Given the description of an element on the screen output the (x, y) to click on. 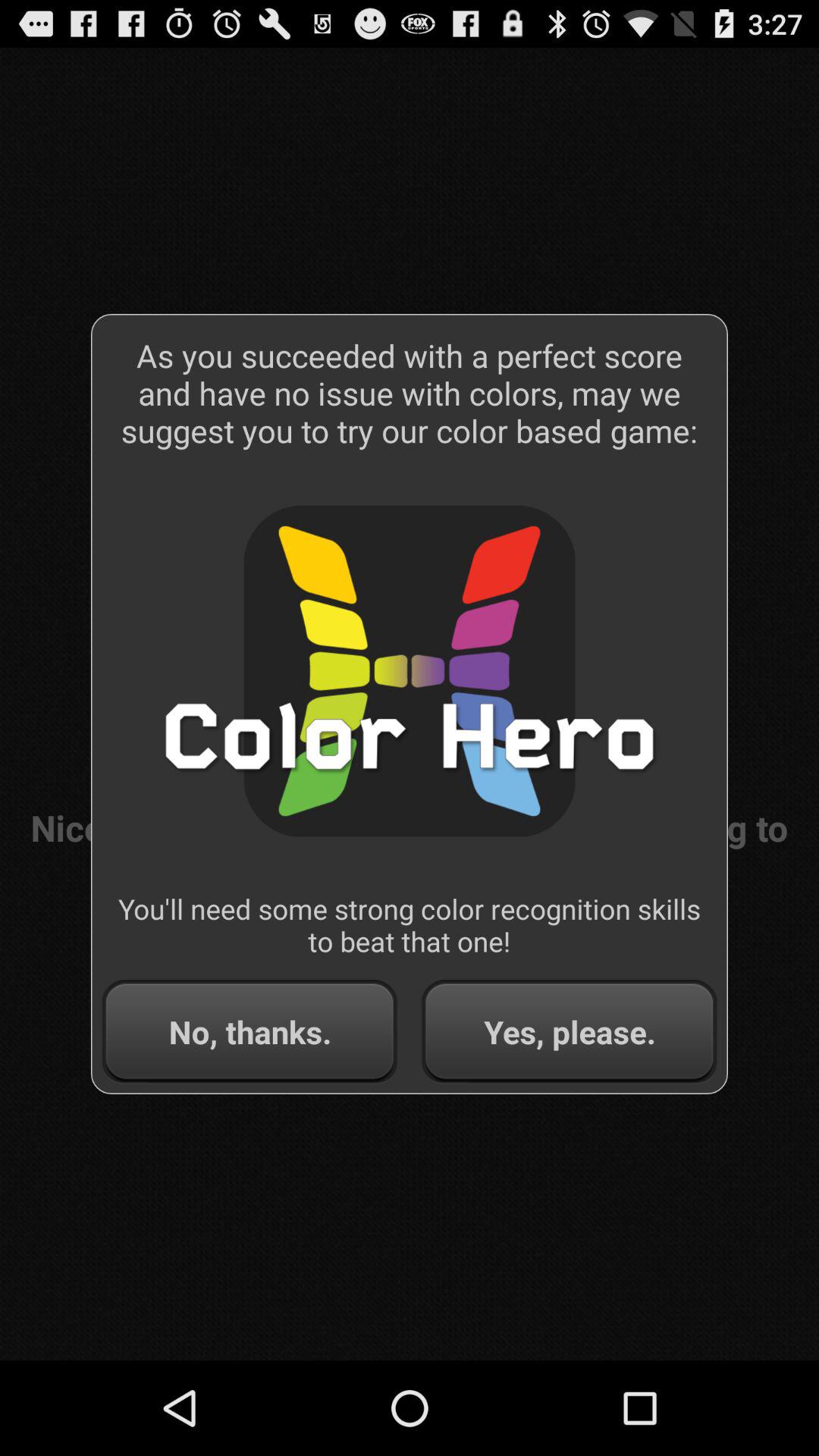
jump to yes, please. (568, 1031)
